Given the description of an element on the screen output the (x, y) to click on. 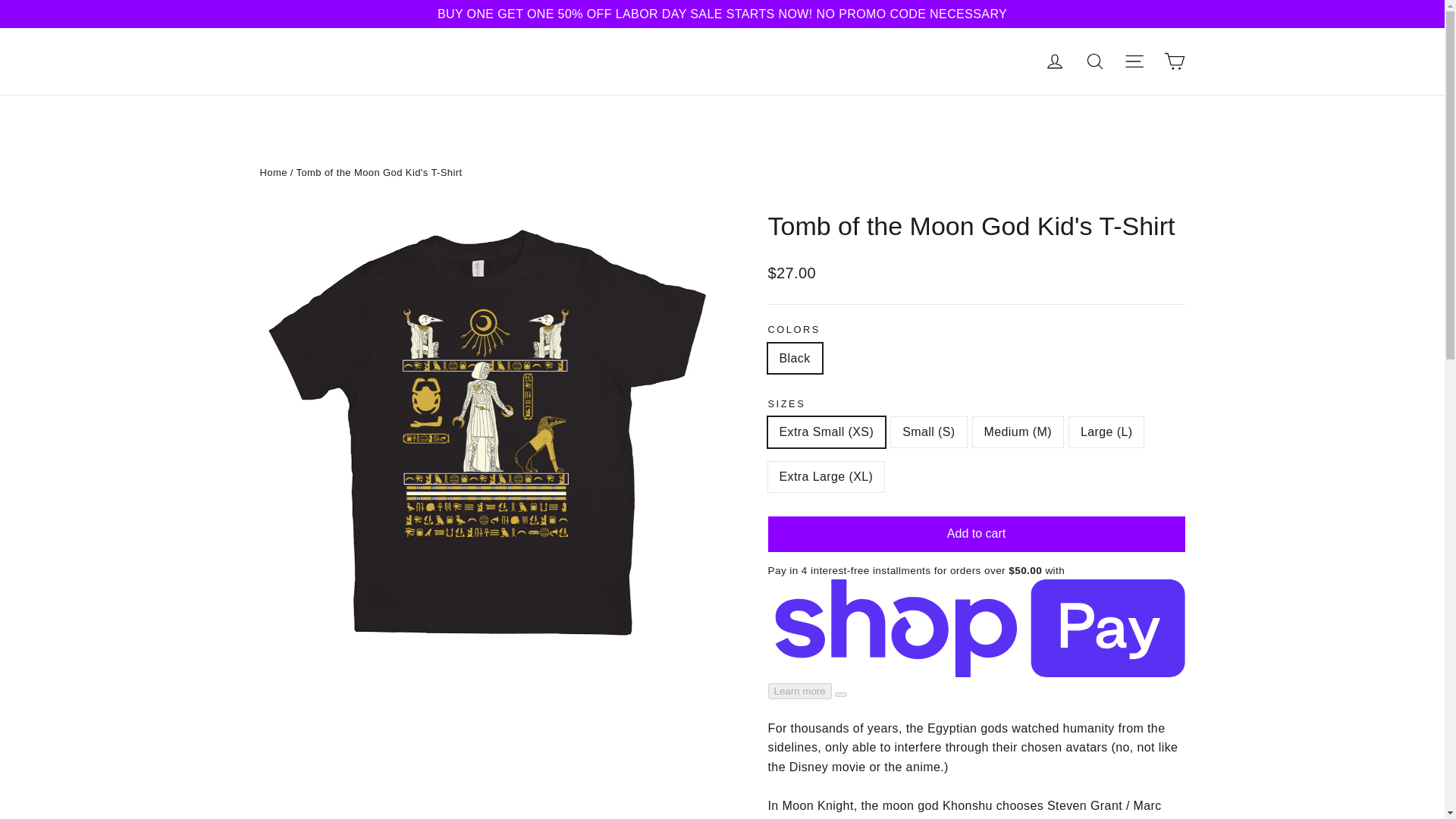
icon-search (1094, 61)
icon-cart (1174, 61)
Back to the frontpage (272, 172)
Black (1095, 61)
account (1054, 61)
